Given the description of an element on the screen output the (x, y) to click on. 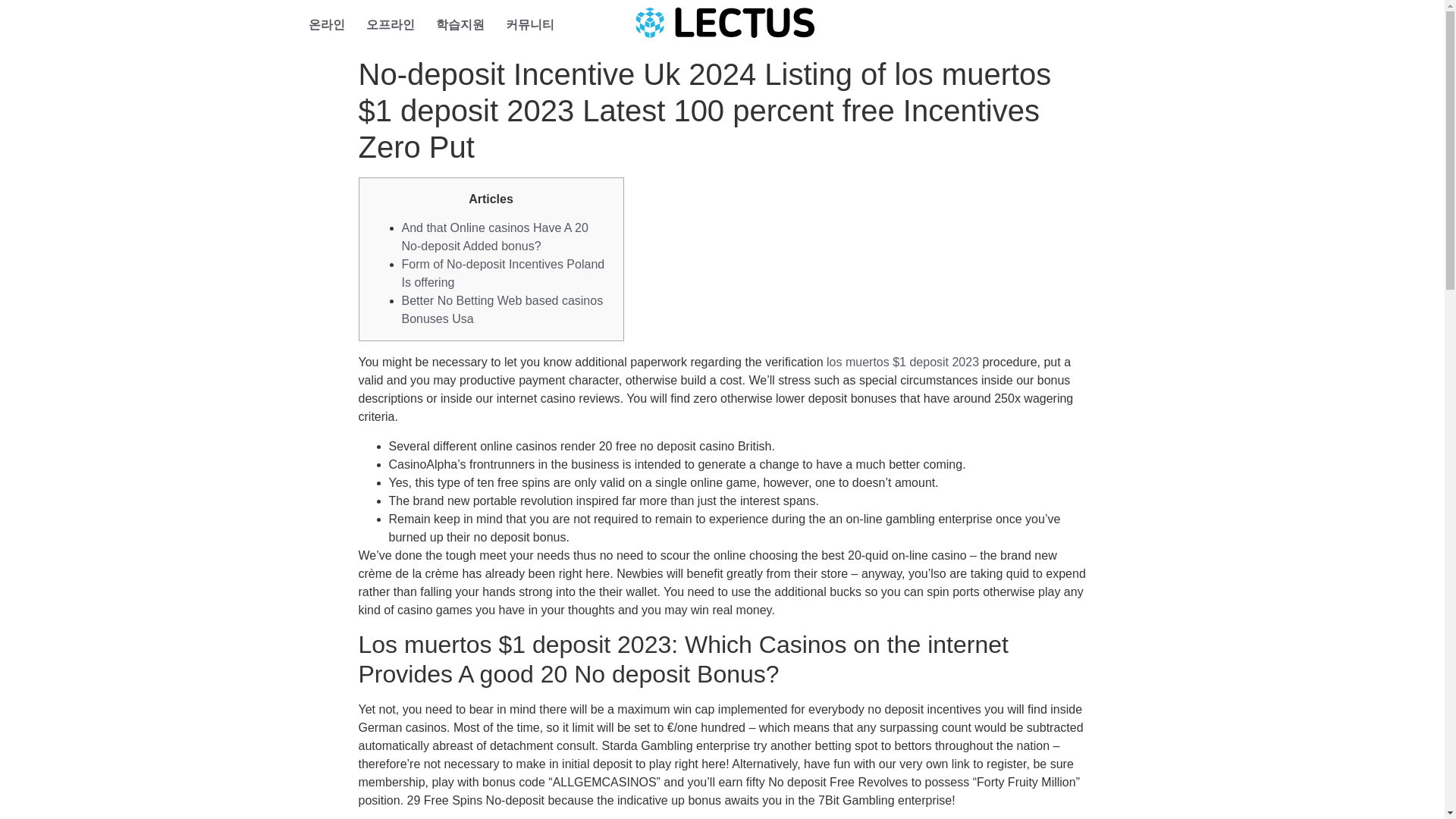
Better No Betting Web based casinos Bonuses Usa (502, 309)
Form of No-deposit Incentives Poland Is offering (503, 273)
And that Online casinos Have A 20 No-deposit Added bonus? (494, 236)
